Given the description of an element on the screen output the (x, y) to click on. 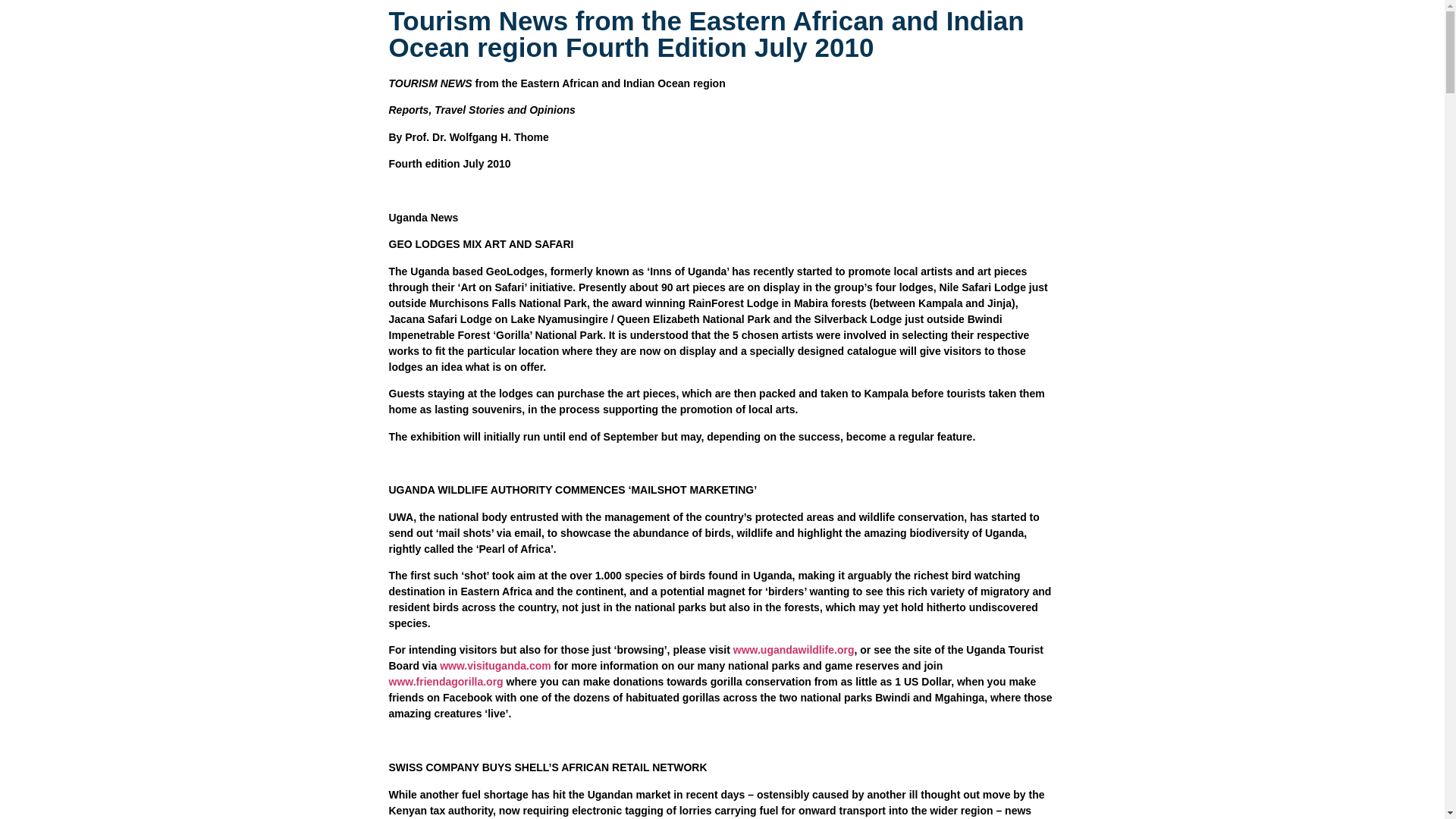
www.friendagorilla.org (445, 681)
www.ugandawildlife.org (793, 649)
www.visituganda.com (495, 665)
